Given the description of an element on the screen output the (x, y) to click on. 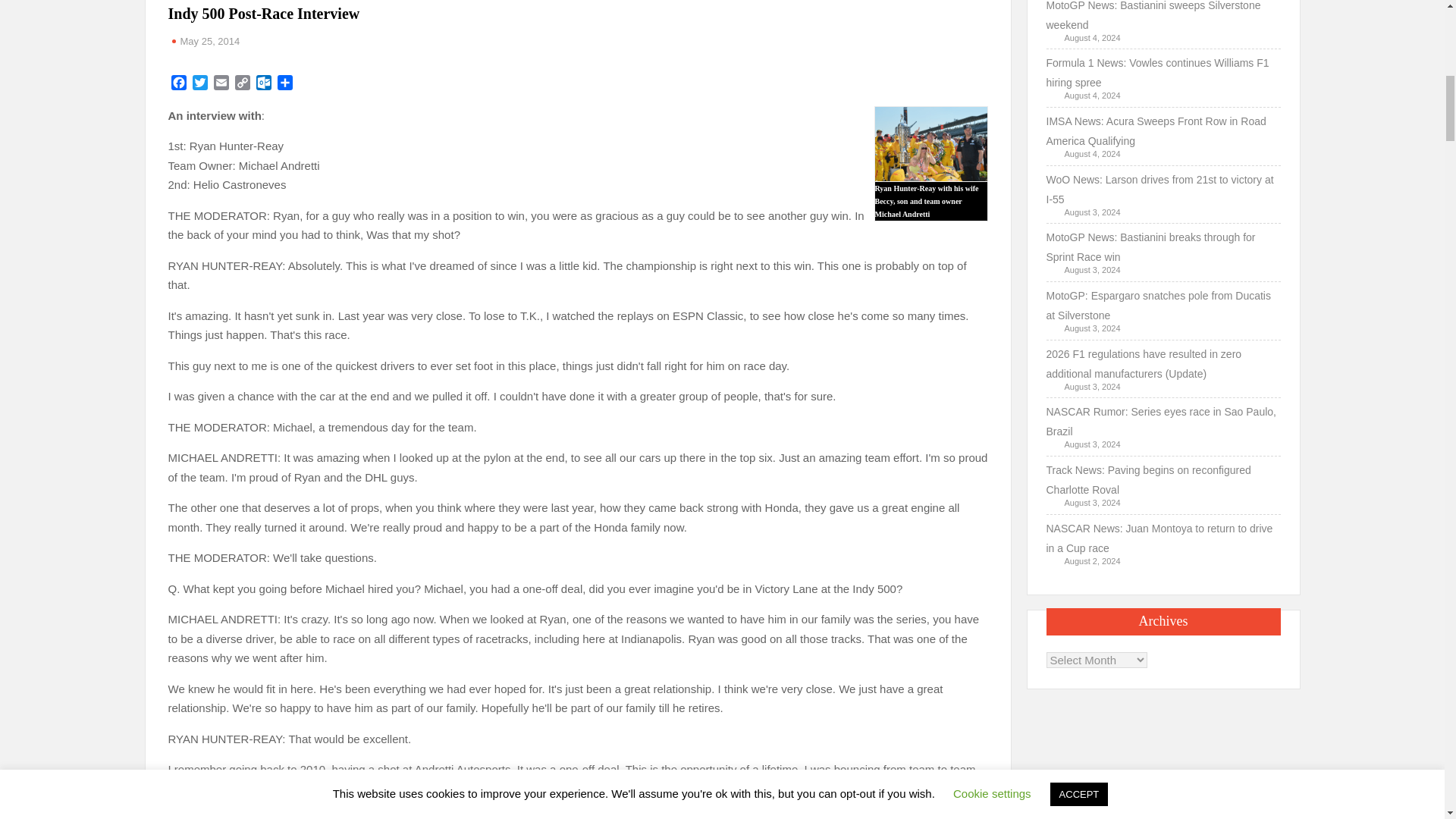
Facebook (178, 84)
Copy Link (242, 84)
Email (221, 84)
Twitter (200, 84)
Outlook.com (264, 84)
